Given the description of an element on the screen output the (x, y) to click on. 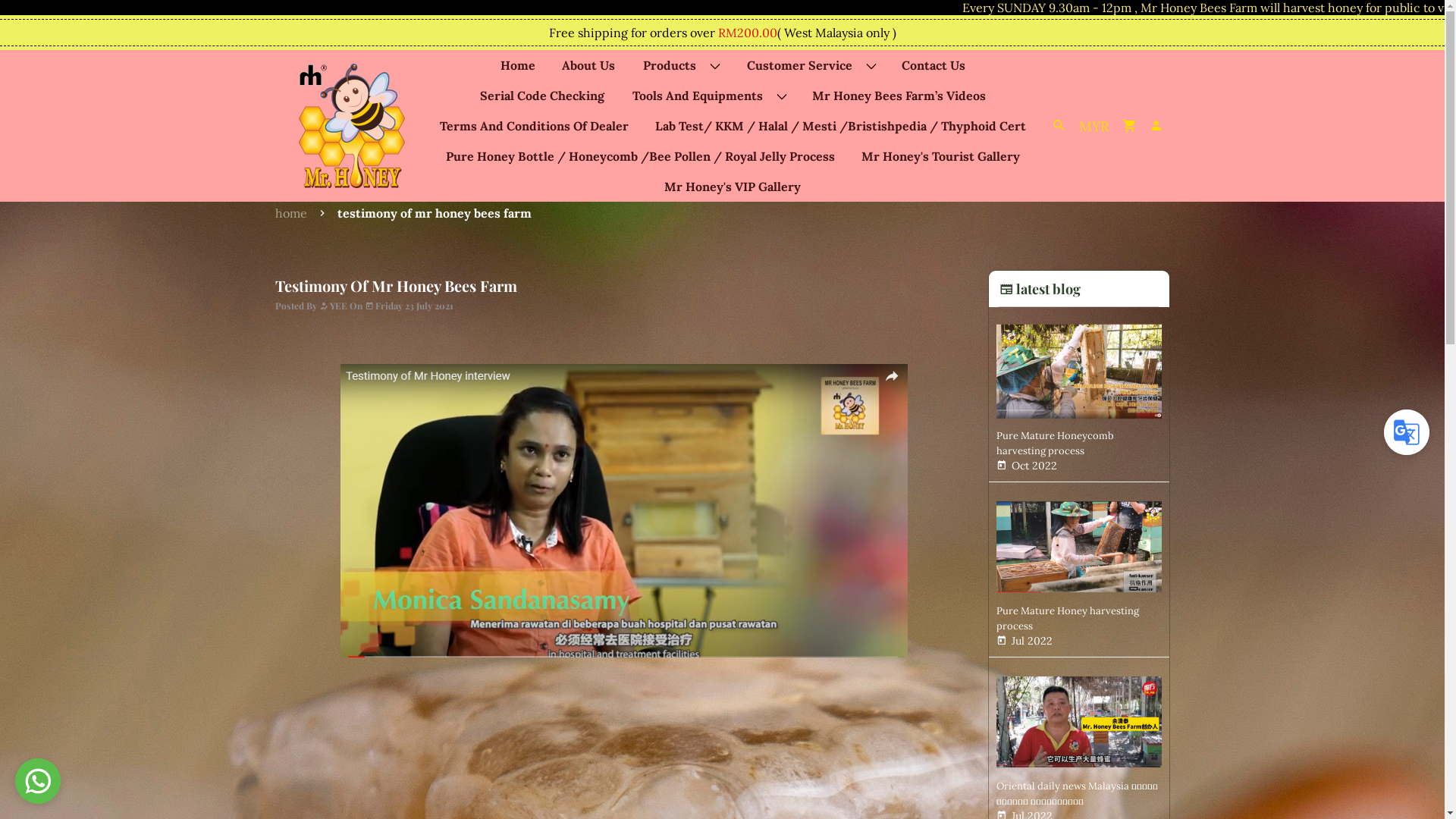
Home Element type: text (517, 65)
home Element type: text (294, 212)
Lab Test/ KKM / Halal / Mesti /Bristishpedia / Thyphoid Cert Element type: text (840, 125)
About Us Element type: text (588, 65)
Tools And Equipments Element type: text (708, 95)
testimony of mr honey bees farm Element type: text (433, 212)
Pure Mature Honey harvesting process
Jul 2022 Element type: text (1078, 568)
Mr Honey Bees  Farm  Element type: hover (351, 126)
Products Element type: text (679, 65)
Contact Us Element type: text (933, 65)
Mr Honey'S Tourist Gallery Element type: text (940, 156)
Terms And Conditions Of Dealer Element type: text (534, 125)
Mr Honey'S VIP Gallery Element type: text (732, 186)
Pure Mature Honeycomb harvesting process
Oct 2022 Element type: text (1078, 394)
MYR Element type: text (1093, 125)
Customer Service Element type: text (809, 65)
Serial Code Checking Element type: text (541, 95)
